Given the description of an element on the screen output the (x, y) to click on. 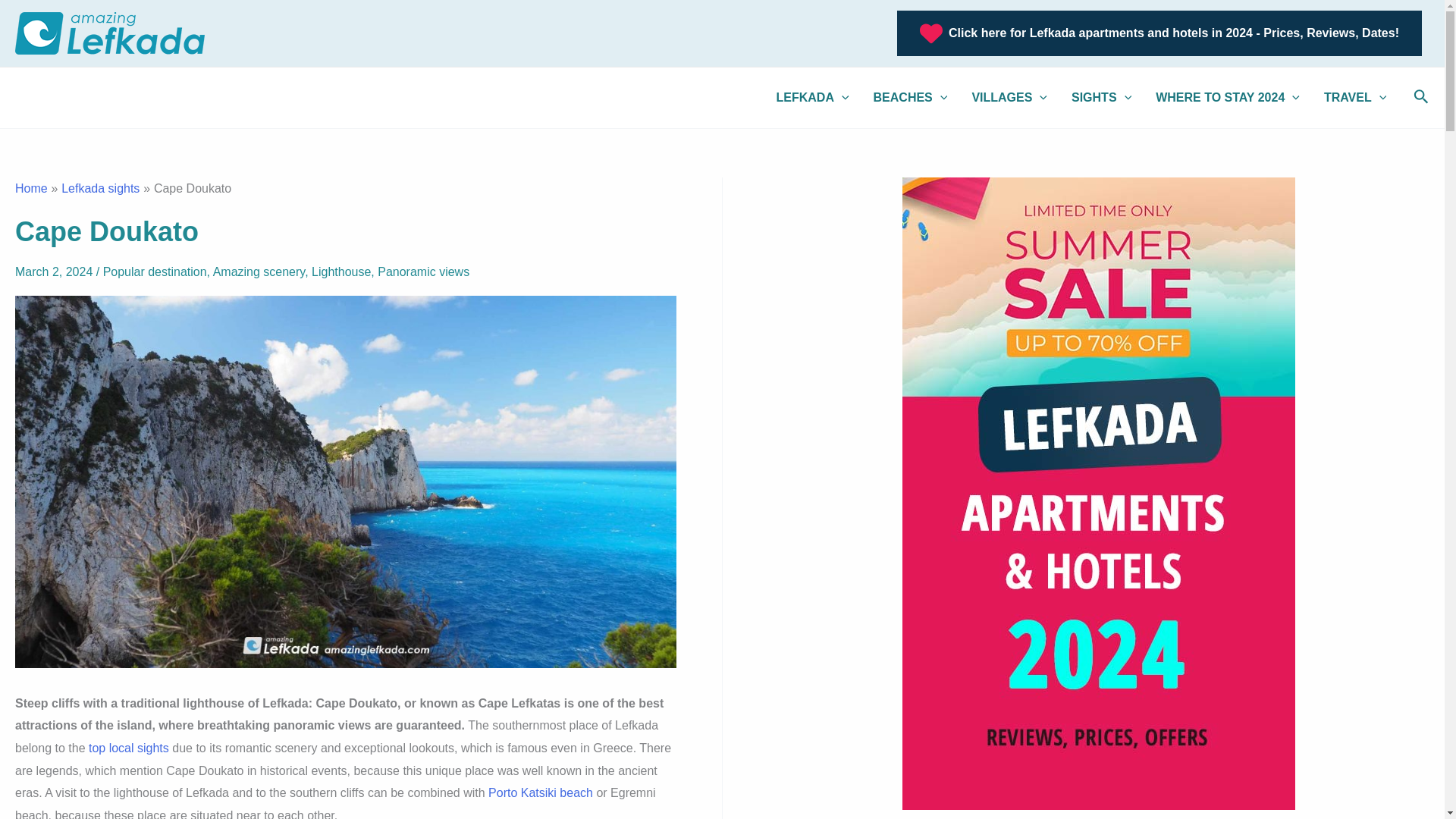
LEFKADA (812, 97)
BEACHES (910, 97)
